Given the description of an element on the screen output the (x, y) to click on. 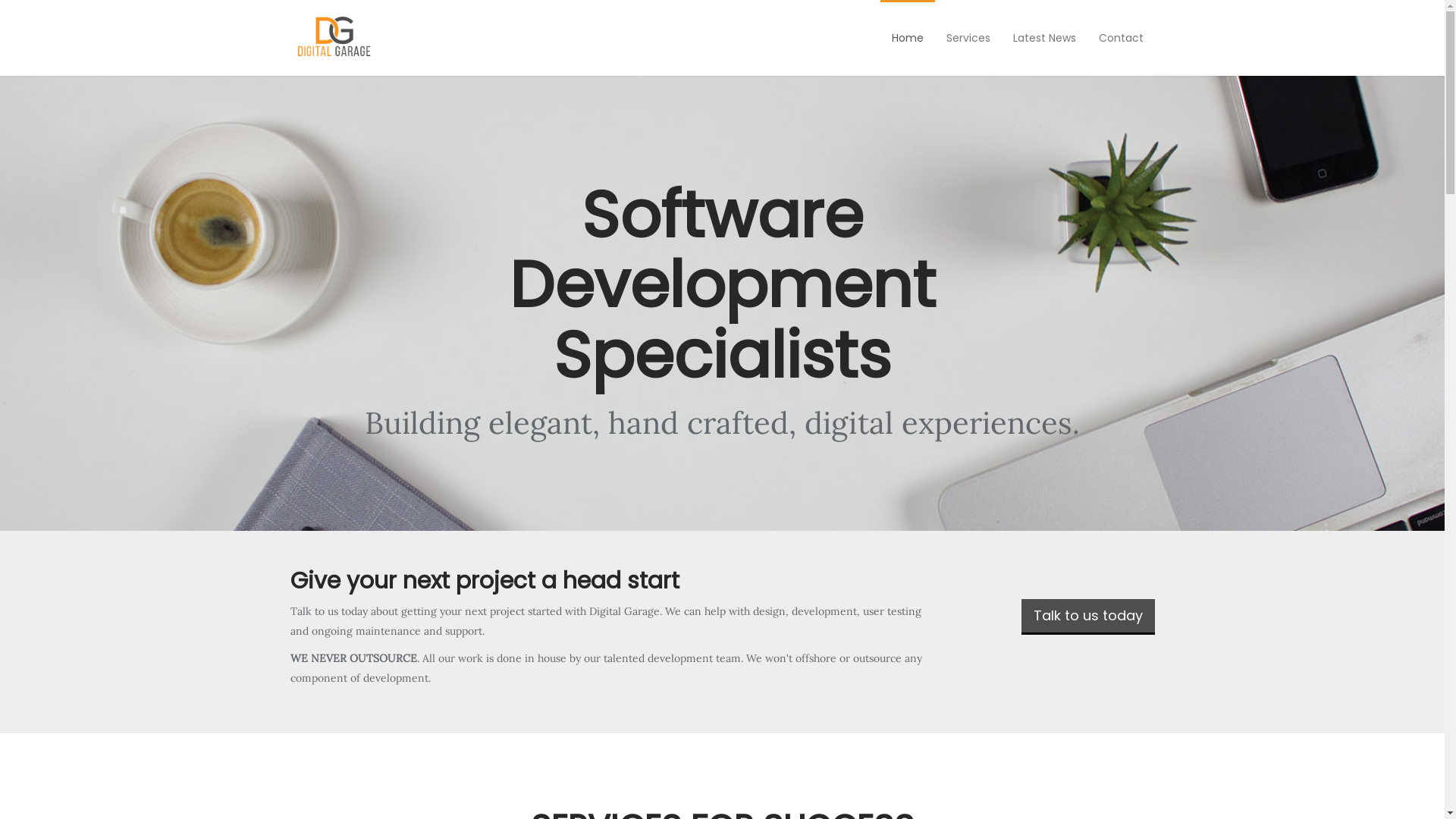
Talk to us today Element type: text (1087, 616)
Services Element type: text (967, 37)
Latest News Element type: text (1043, 37)
Contact Element type: text (1120, 37)
Home Element type: text (906, 37)
